Given the description of an element on the screen output the (x, y) to click on. 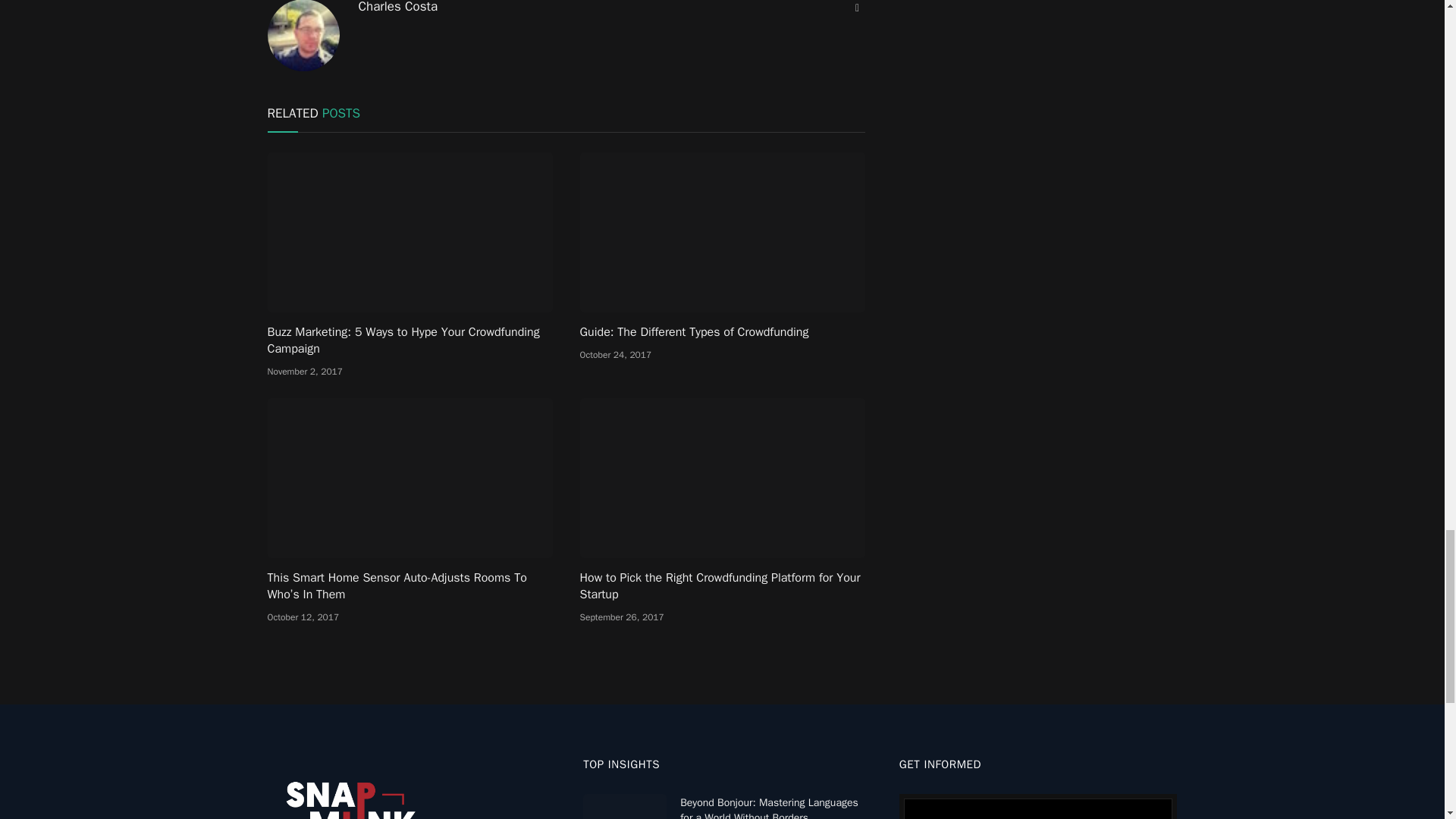
Buzz Marketing: 5 Ways to Hype Your Crowdfunding Campaign (408, 231)
Website (856, 7)
Website (856, 7)
Charles Costa (398, 7)
Buzz Marketing: 5 Ways to Hype Your Crowdfunding Campaign (408, 340)
Posts by Charles Costa (398, 7)
